Given the description of an element on the screen output the (x, y) to click on. 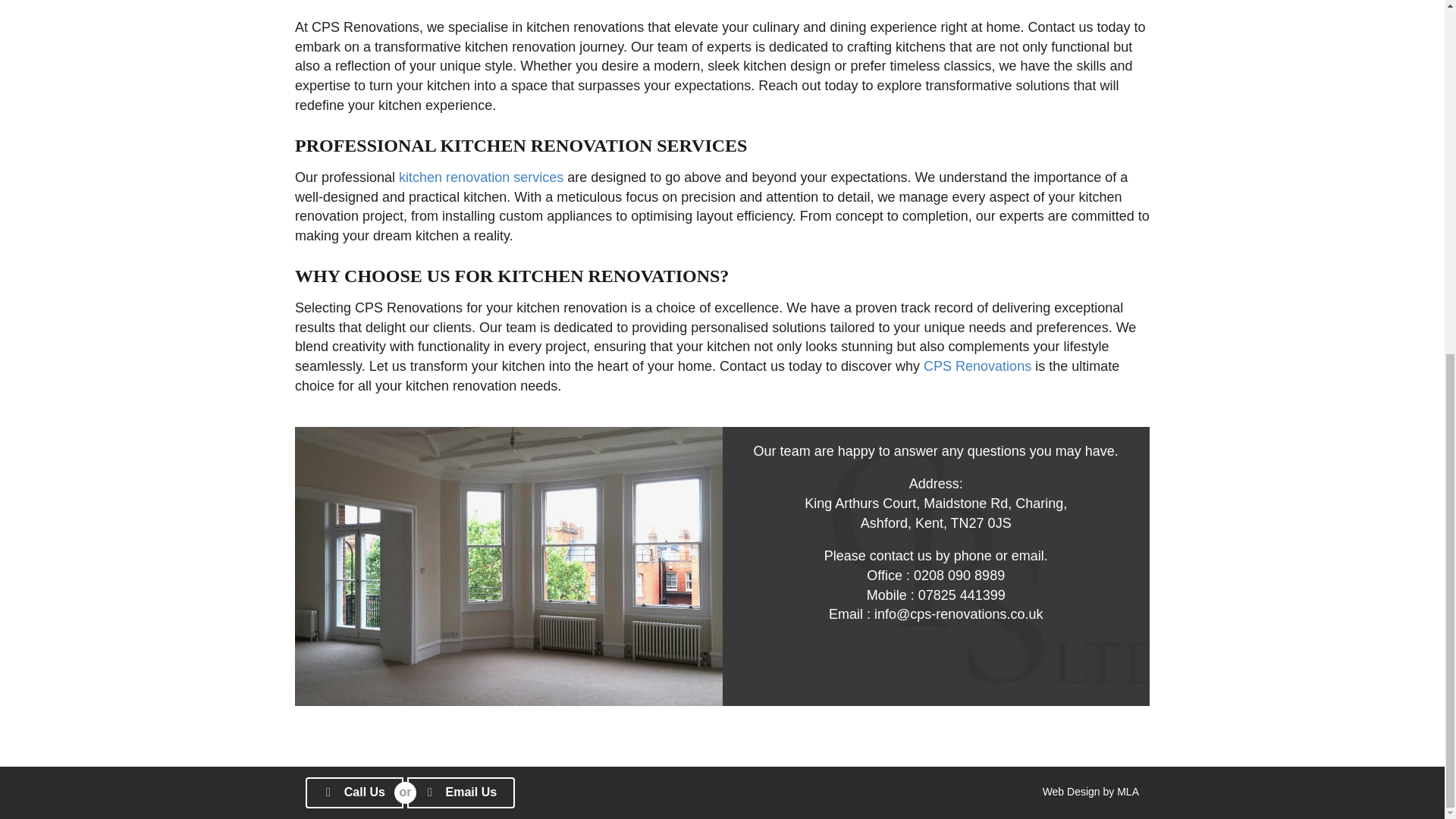
kitchen renovation services (480, 177)
Web Design (1071, 791)
Call Us (354, 792)
Email Us (461, 792)
CPS Renovations (976, 365)
